Given the description of an element on the screen output the (x, y) to click on. 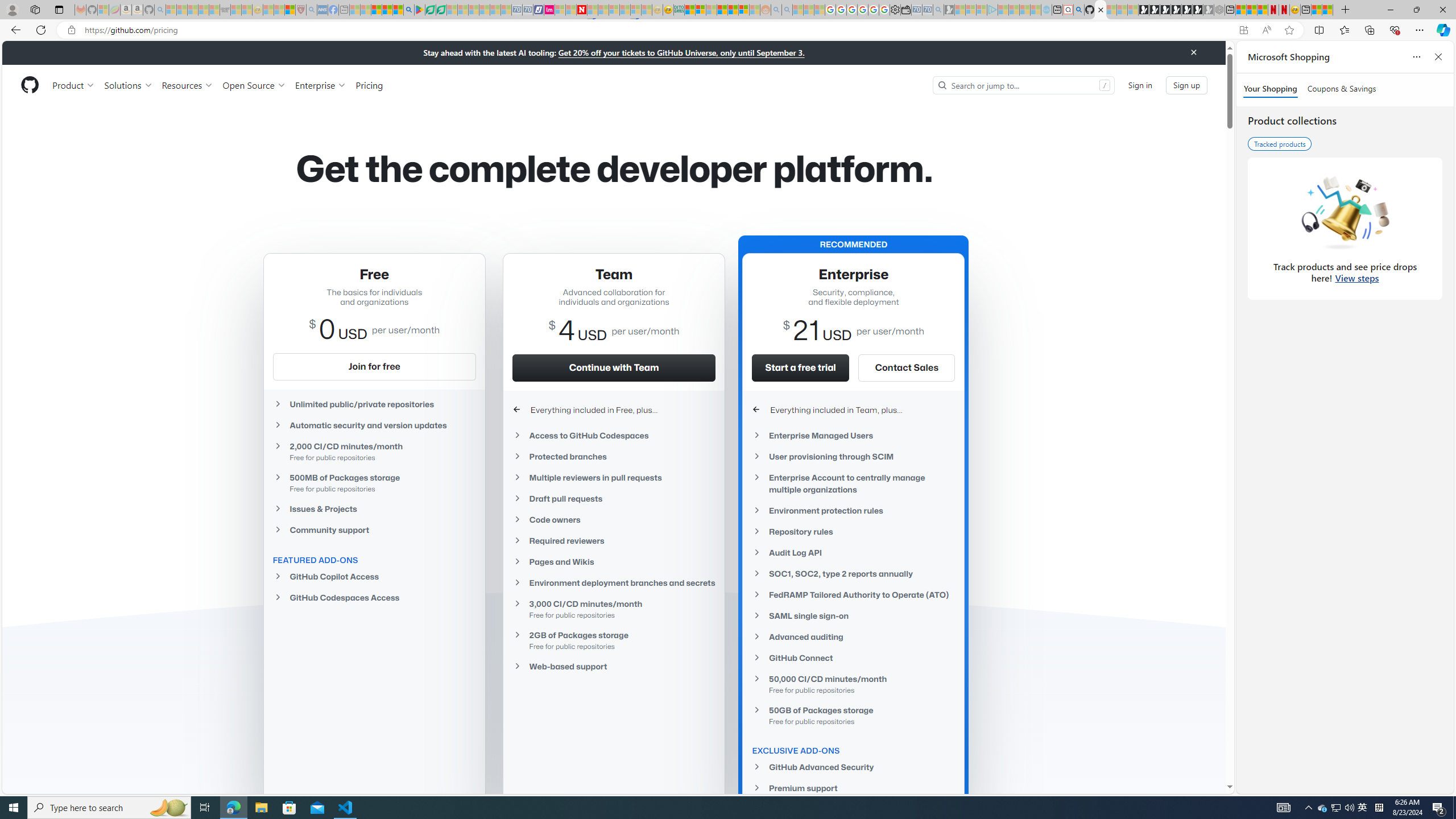
Premium support (853, 788)
Open Source (254, 84)
FedRAMP Tailored Authority to Operate (ATO) (853, 594)
50GB of Packages storage Free for public repositories (853, 715)
Solutions (128, 84)
Audit Log API (853, 552)
